Given the description of an element on the screen output the (x, y) to click on. 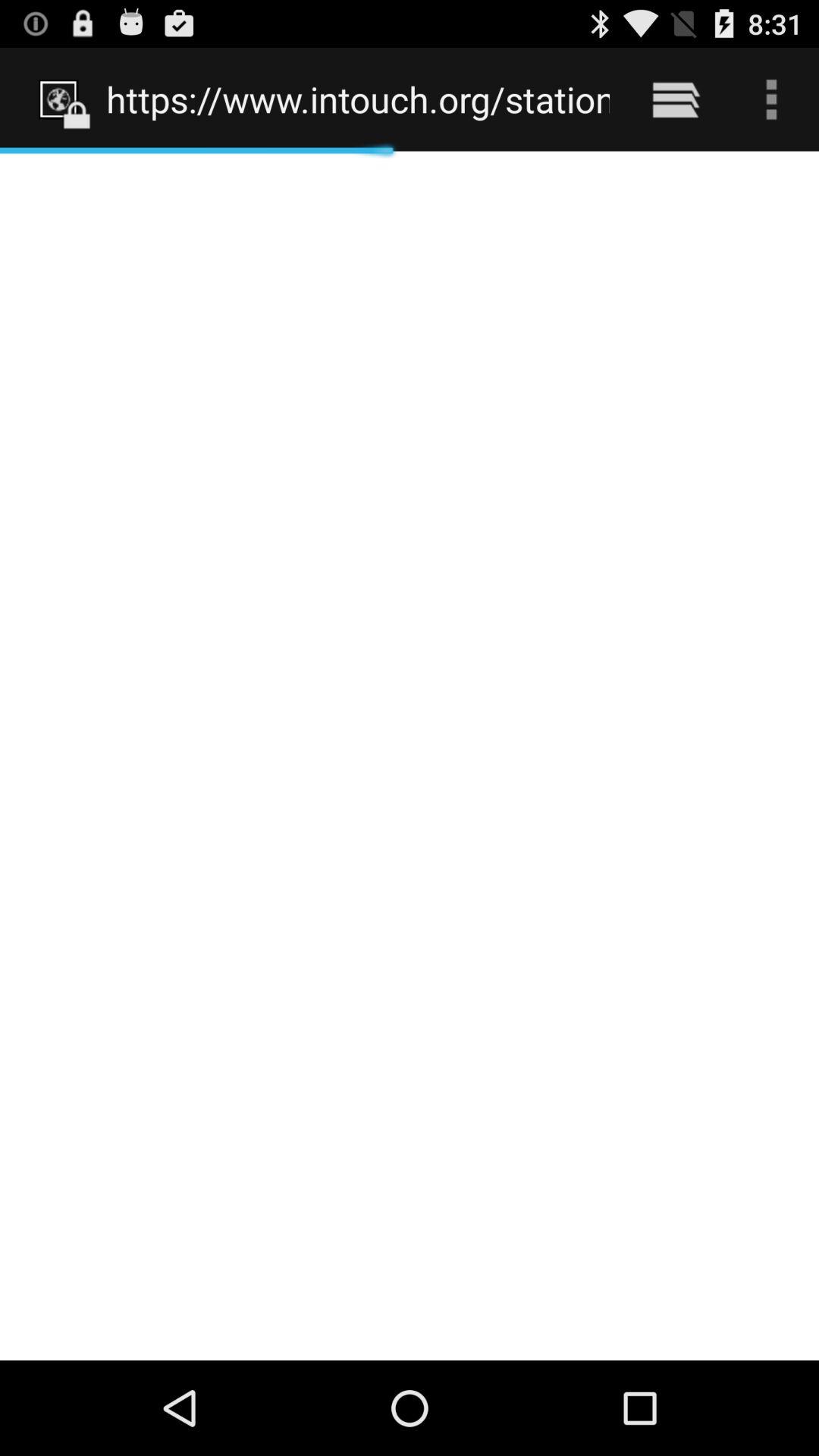
press the icon next to https www intouch item (675, 99)
